Given the description of an element on the screen output the (x, y) to click on. 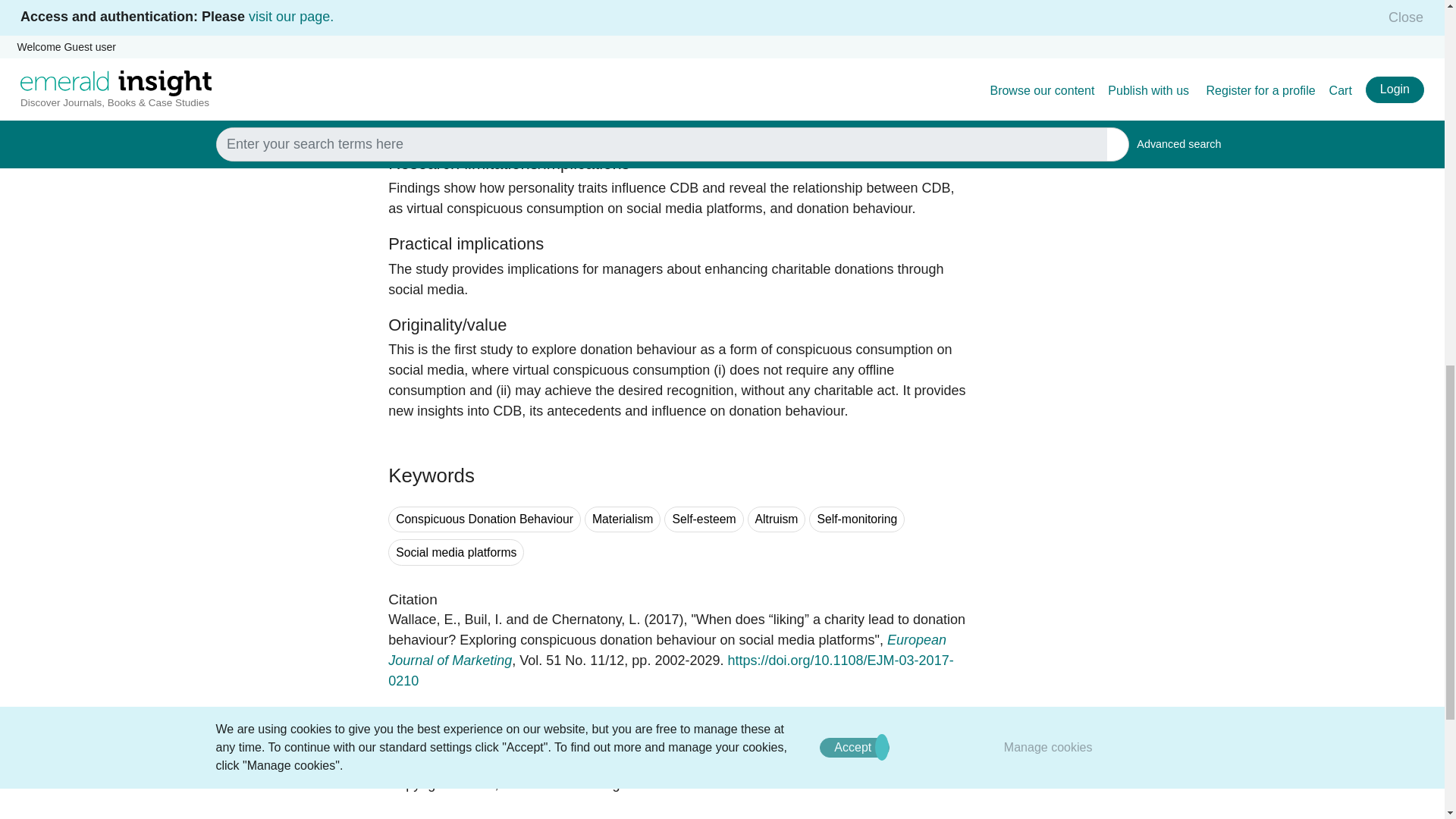
Search for keyword Self-esteem (702, 519)
Search for keyword Conspicuous Donation Behaviour (484, 519)
Leslie de Chernatony (586, 619)
Search for keyword Materialism (623, 519)
Search for keyword Self-monitoring (856, 519)
Search for keyword Altruism (777, 519)
Isabel Buil (483, 619)
Search for keyword Social media platforms (456, 551)
Elaine Wallace (422, 619)
